Given the description of an element on the screen output the (x, y) to click on. 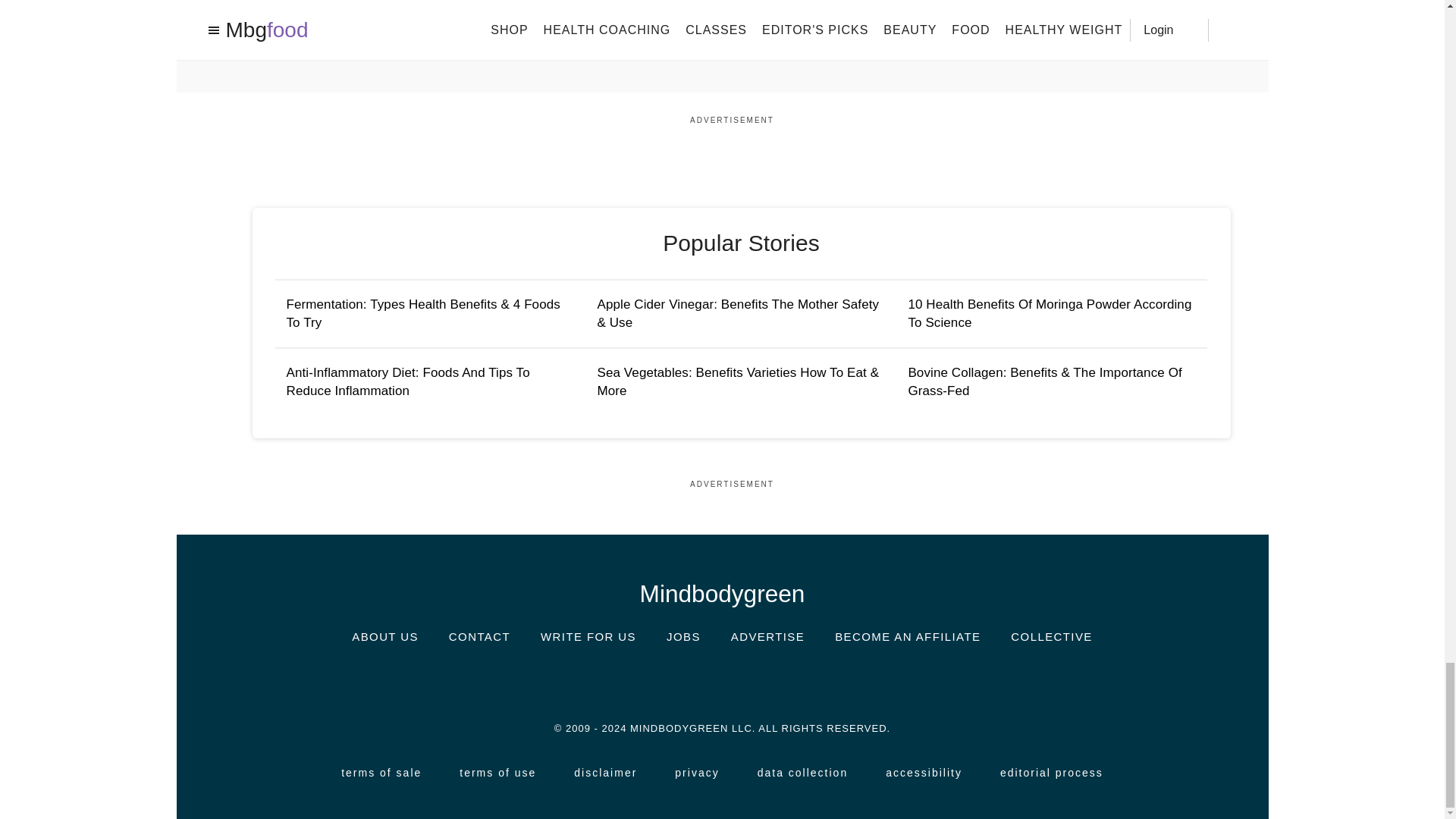
Pinterest (767, 680)
Twitter (721, 680)
Instagram (630, 680)
Facebook (676, 680)
YouTube (812, 680)
